Given the description of an element on the screen output the (x, y) to click on. 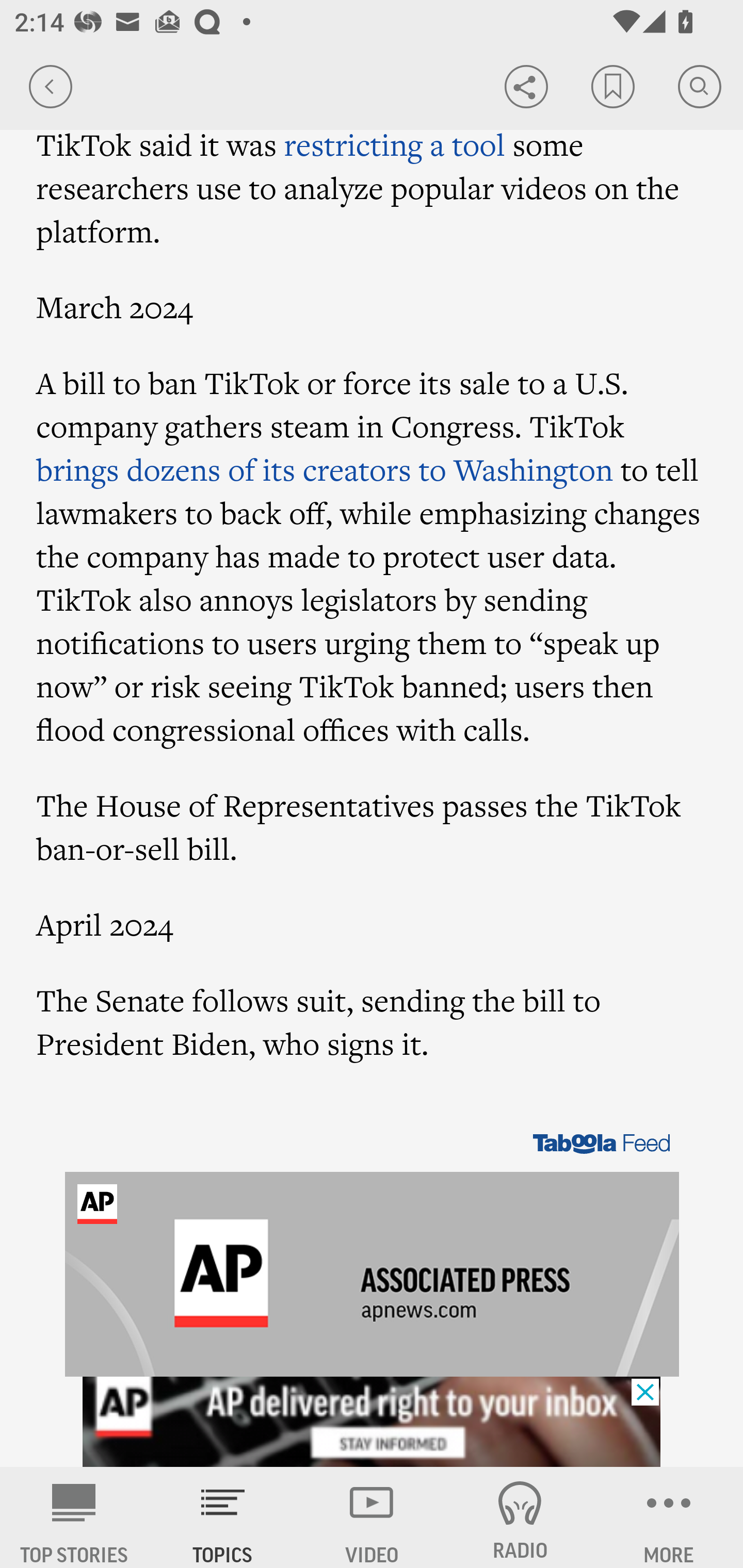
restricting a tool (394, 144)
brings dozens of its creators to Washington (324, 469)
AP News TOP STORIES (74, 1517)
TOPICS (222, 1517)
VIDEO (371, 1517)
RADIO (519, 1517)
MORE (668, 1517)
